Given the description of an element on the screen output the (x, y) to click on. 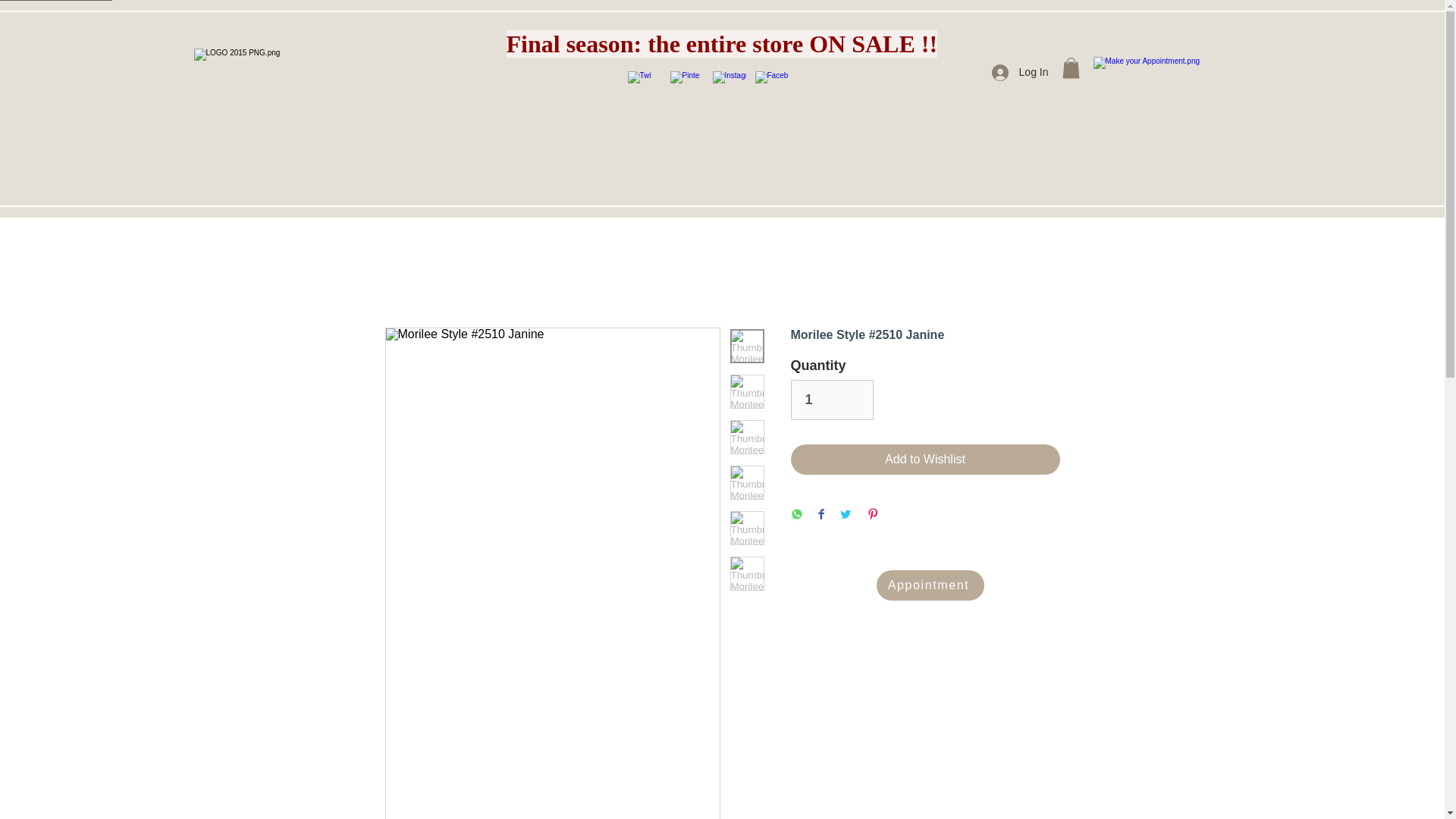
LOGO ABREBIADO 2015.jpg (288, 82)
1 (831, 399)
Appoinment.jpg (1184, 115)
Add to Wishlist (924, 459)
Log In (1020, 72)
